Given the description of an element on the screen output the (x, y) to click on. 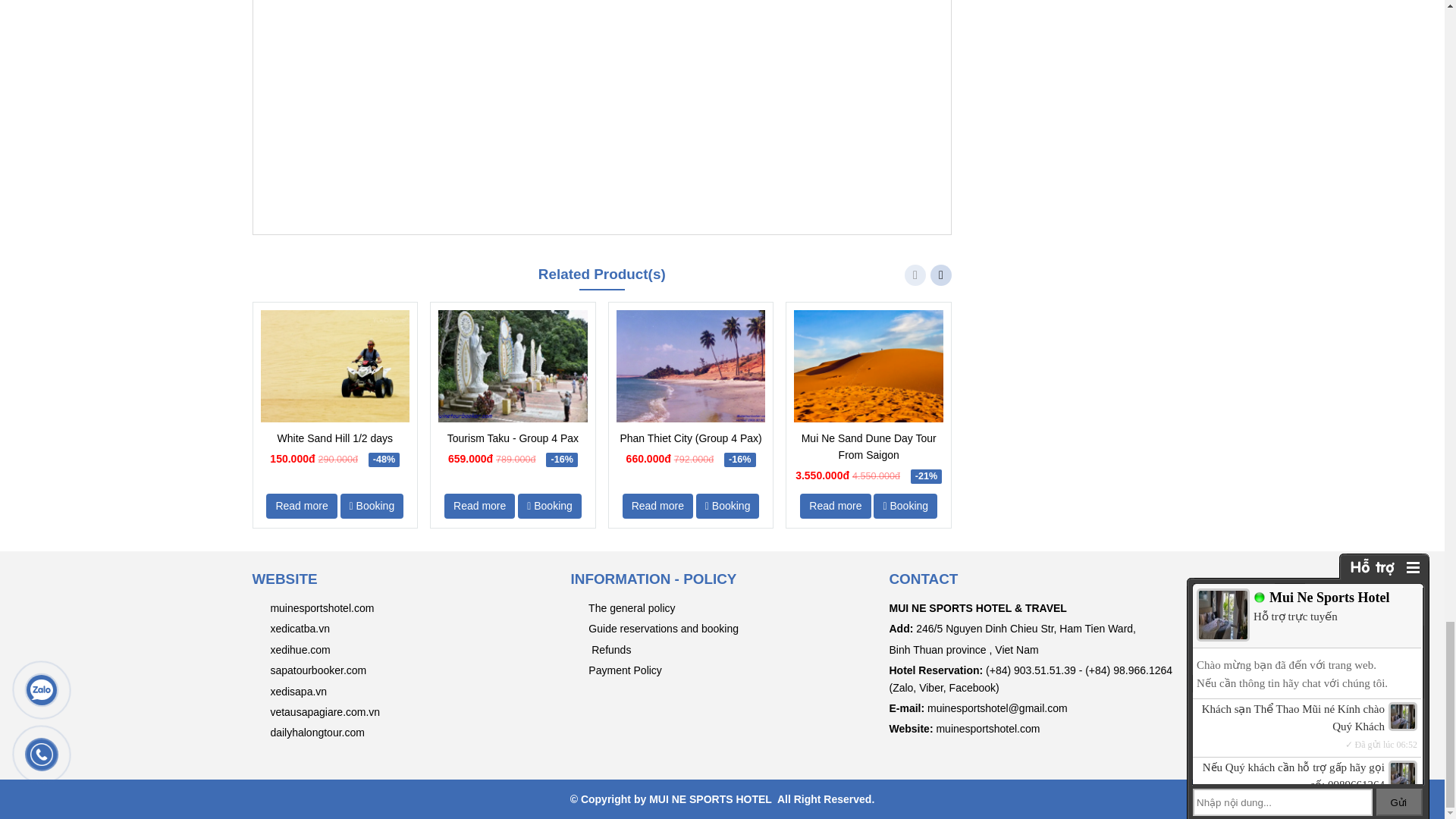
Tourism Taku - Group 4 Pax (513, 437)
Read more (301, 505)
Mui Ne Sand Dune Day Tour From Saigon (868, 446)
Read more (658, 505)
Read more (479, 505)
Read more (834, 505)
